Given the description of an element on the screen output the (x, y) to click on. 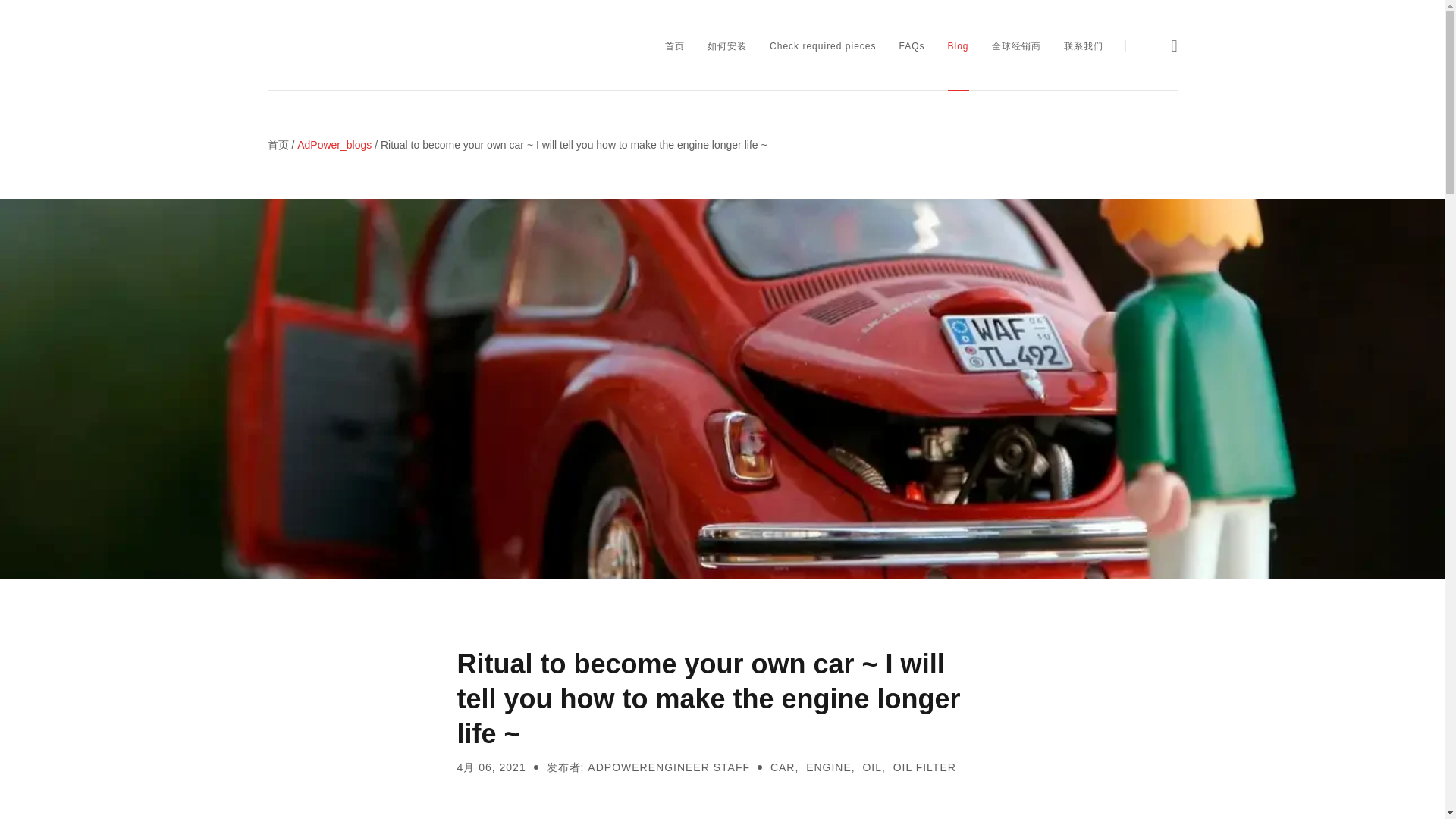
OIL FILTER (924, 767)
FAQs (911, 46)
Check required pieces (823, 46)
ENGINE (828, 767)
CAR (782, 767)
Blog (958, 46)
OIL (871, 767)
